Given the description of an element on the screen output the (x, y) to click on. 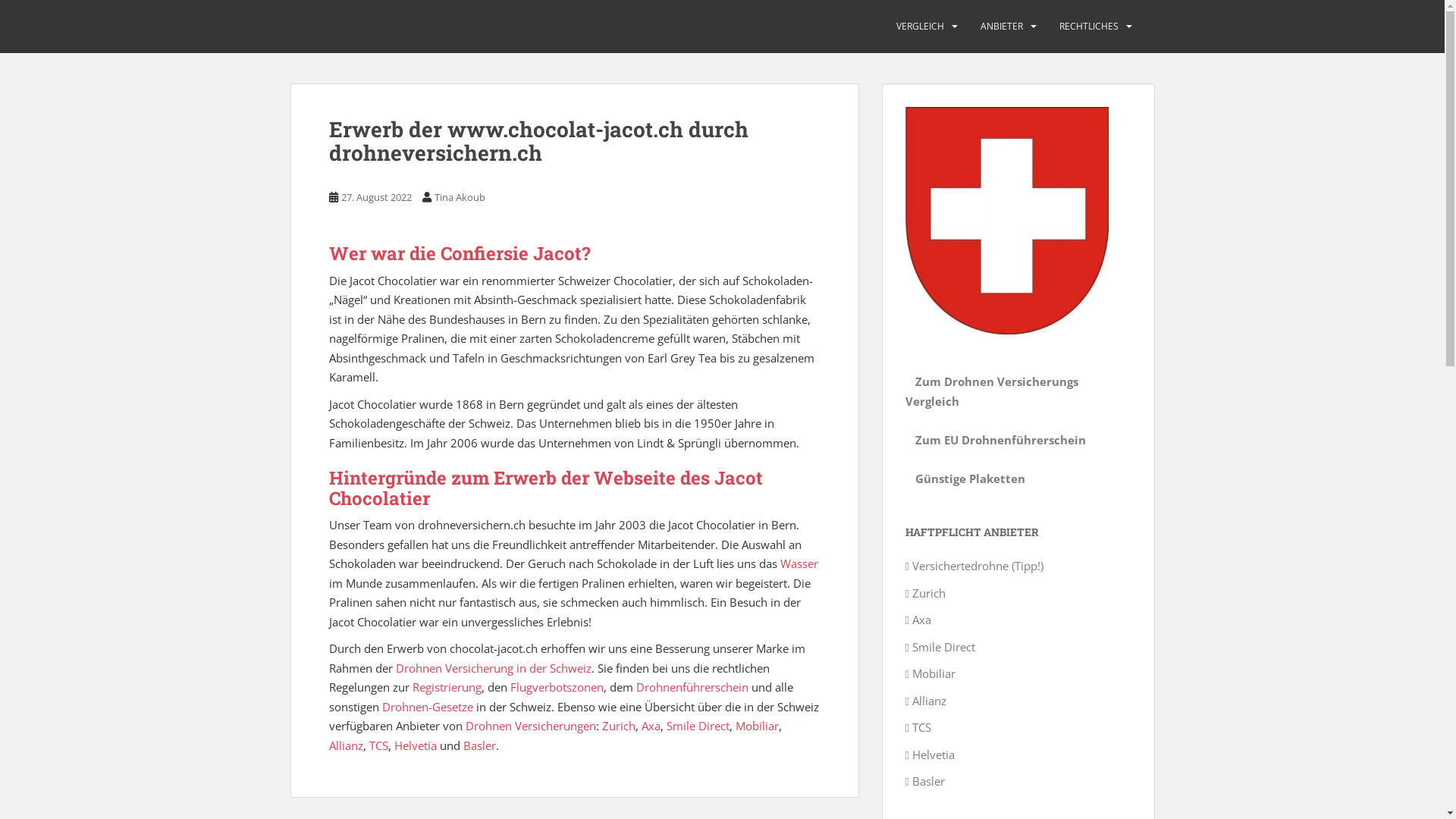
Drohnen-Gesetze Element type: text (427, 706)
Smile Direct Element type: text (696, 725)
Tina Akoub Element type: text (458, 196)
Registrierung Element type: text (446, 686)
Helvetia Element type: text (415, 745)
Axa Element type: text (650, 725)
Drohnen & Recht Schweiz: Muss ich meine Drohne Versichern? Element type: text (531, 26)
Allianz Element type: text (346, 745)
VERGLEICH Element type: text (920, 26)
Mobiliar Element type: text (756, 725)
Zurich Element type: text (618, 725)
Basler Element type: text (478, 745)
Drohnen Versicherung in der Schweiz Element type: text (493, 667)
27. August 2022 Element type: text (376, 196)
Drohnen Versicherungen Element type: text (530, 725)
ANBIETER Element type: text (1000, 26)
Flugverbotszonen Element type: text (555, 686)
Wasser Element type: text (798, 563)
RECHTLICHES Element type: text (1087, 26)
TCS Element type: text (377, 745)
